Given the description of an element on the screen output the (x, y) to click on. 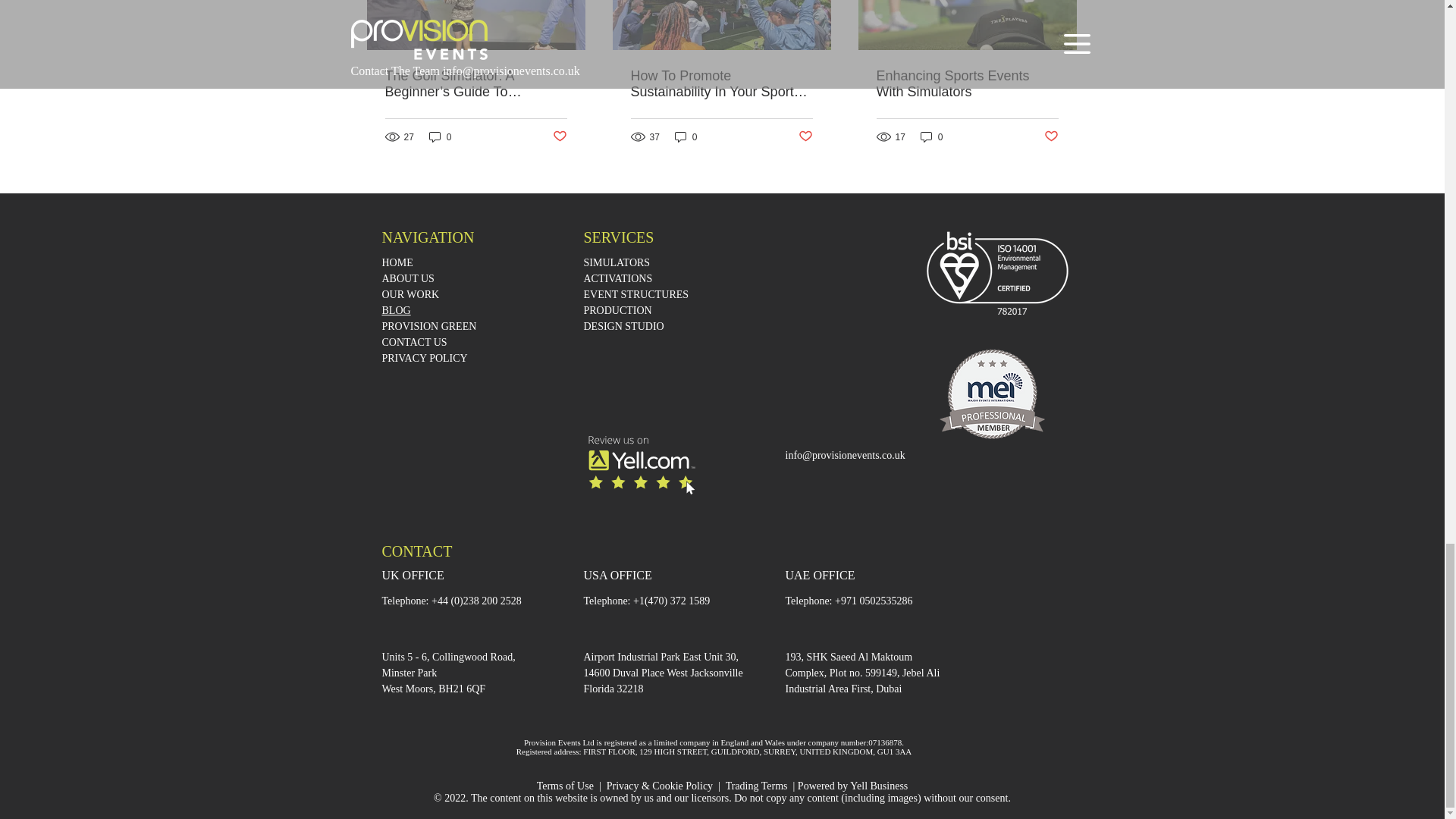
Post not marked as liked (1050, 136)
0 (440, 136)
CONTACT US (413, 342)
Units 5 - 6, Collingwood Road, Minster Park (448, 664)
PRIVACY POLICY (424, 357)
Post not marked as liked (804, 136)
Post not marked as liked (558, 136)
SIMULATORS (616, 262)
PROVISION GREEN (429, 326)
Professional logo jpg.jpg (992, 394)
